Given the description of an element on the screen output the (x, y) to click on. 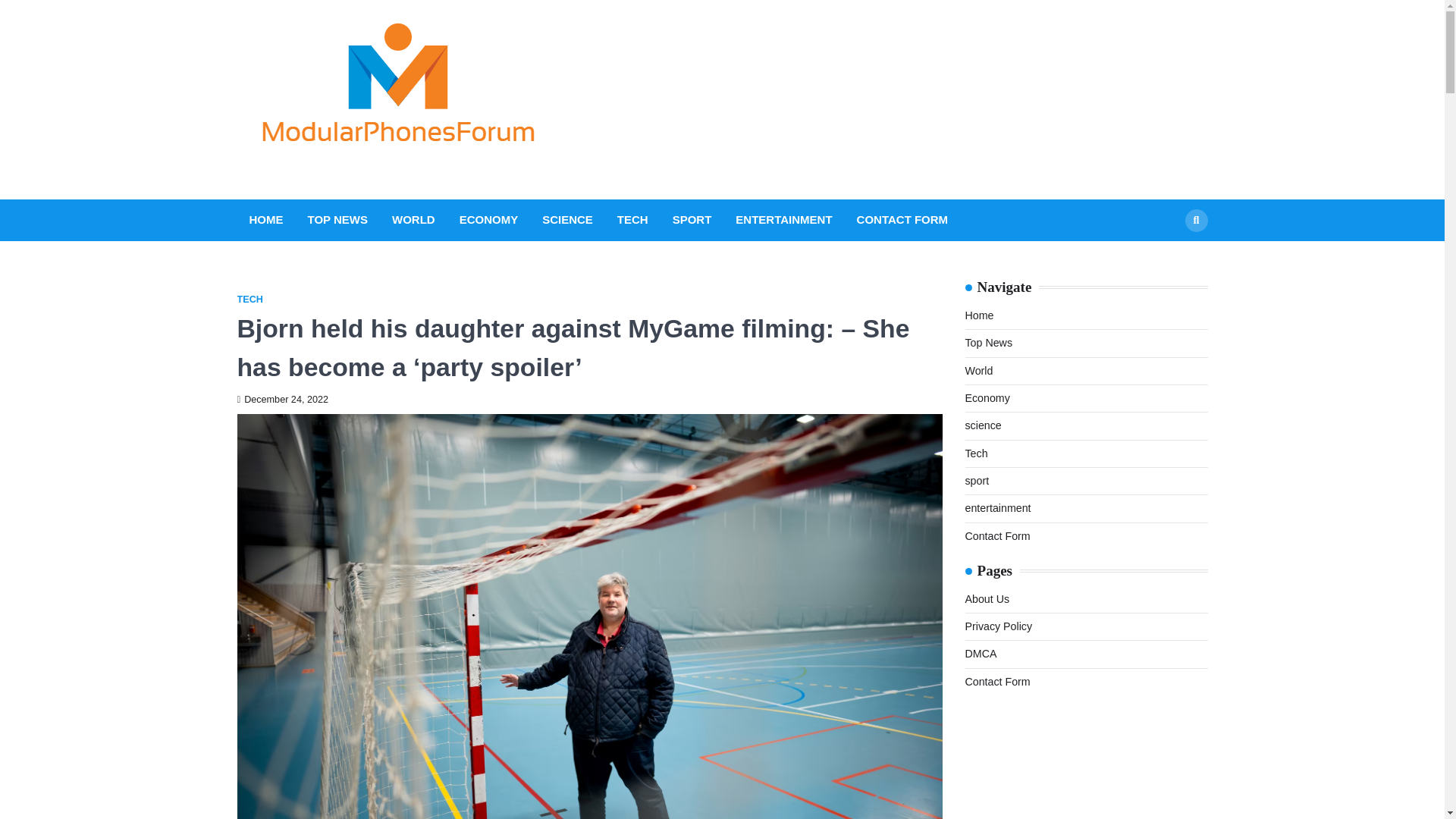
TECH (248, 299)
Search (1196, 220)
Top News (987, 342)
SCIENCE (566, 220)
ECONOMY (488, 220)
CONTACT FORM (902, 220)
TECH (632, 220)
Economy (986, 398)
TOP NEWS (337, 220)
World (977, 370)
December 24, 2022 (282, 398)
SPORT (691, 220)
WORLD (413, 220)
Home (977, 315)
Search (1168, 256)
